Given the description of an element on the screen output the (x, y) to click on. 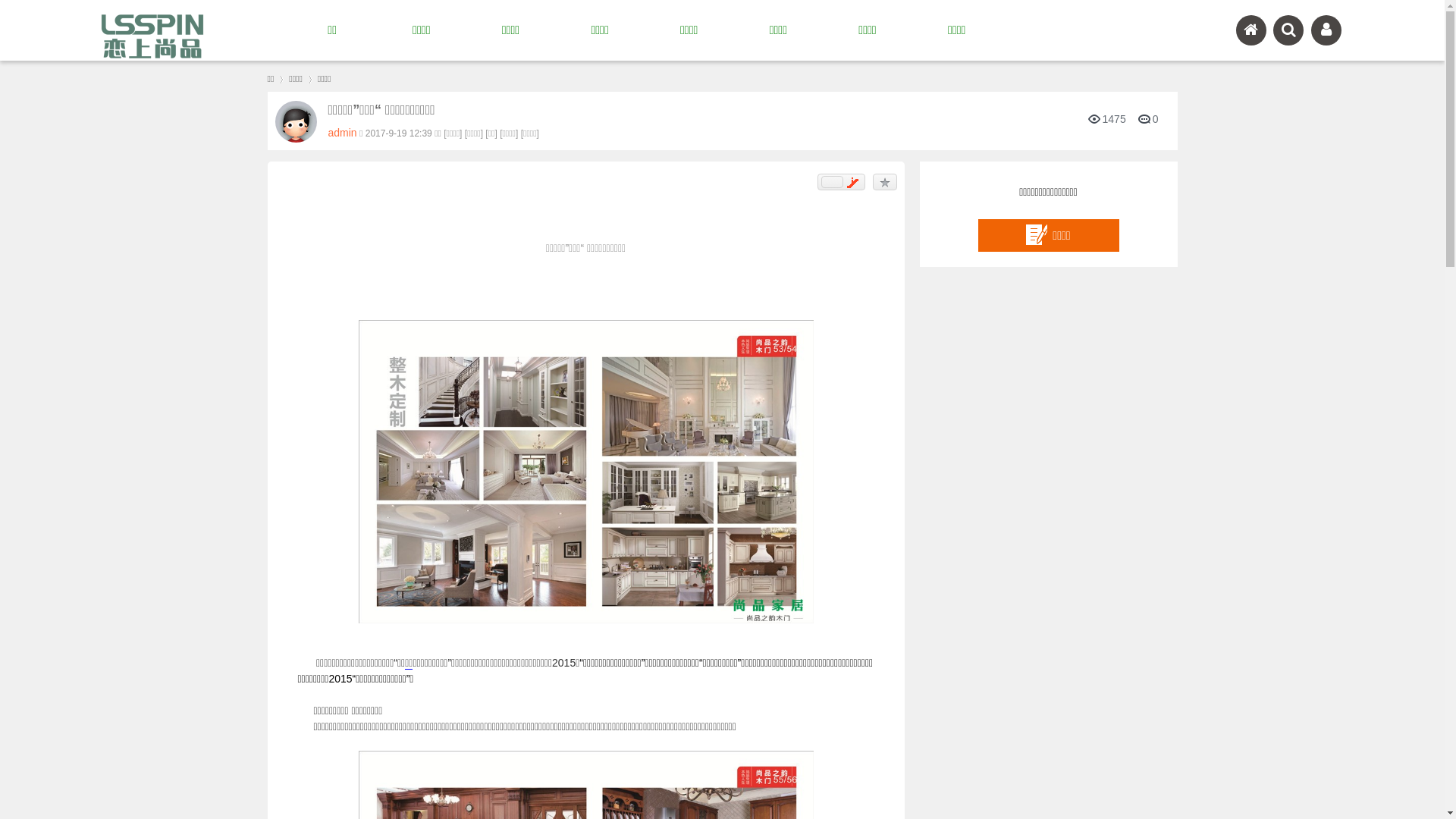
admin Element type: text (341, 132)
admin Element type: hover (295, 121)
